Given the description of an element on the screen output the (x, y) to click on. 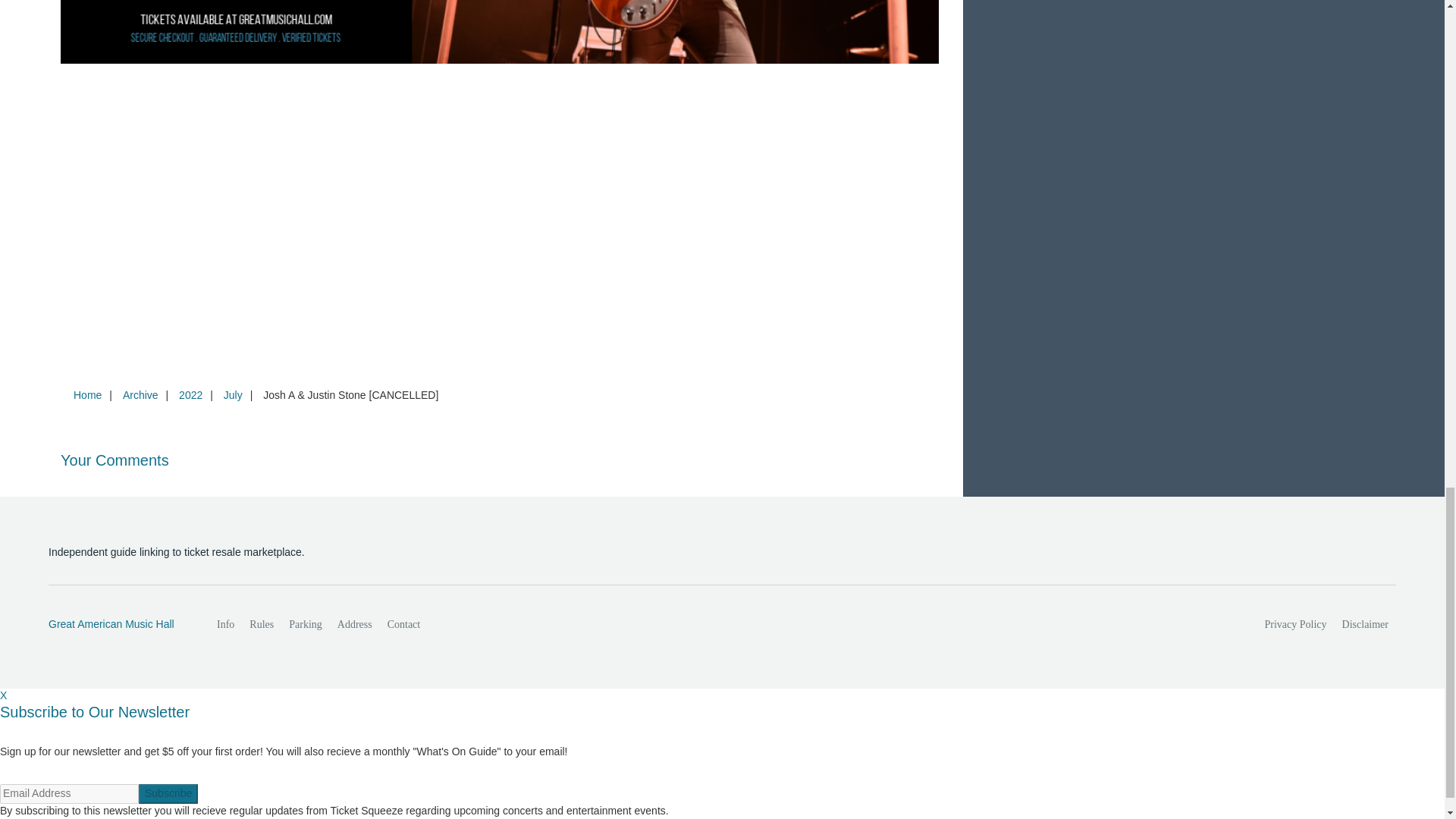
July (232, 395)
Info (225, 624)
Disclaimer (1365, 624)
Great American Music Hall (116, 624)
Archive (140, 395)
Rules (261, 624)
Parking (305, 624)
2022 (190, 395)
Contact (404, 624)
Privacy Policy (1296, 624)
Subscribe (168, 793)
Home (87, 395)
Address (355, 624)
